Given the description of an element on the screen output the (x, y) to click on. 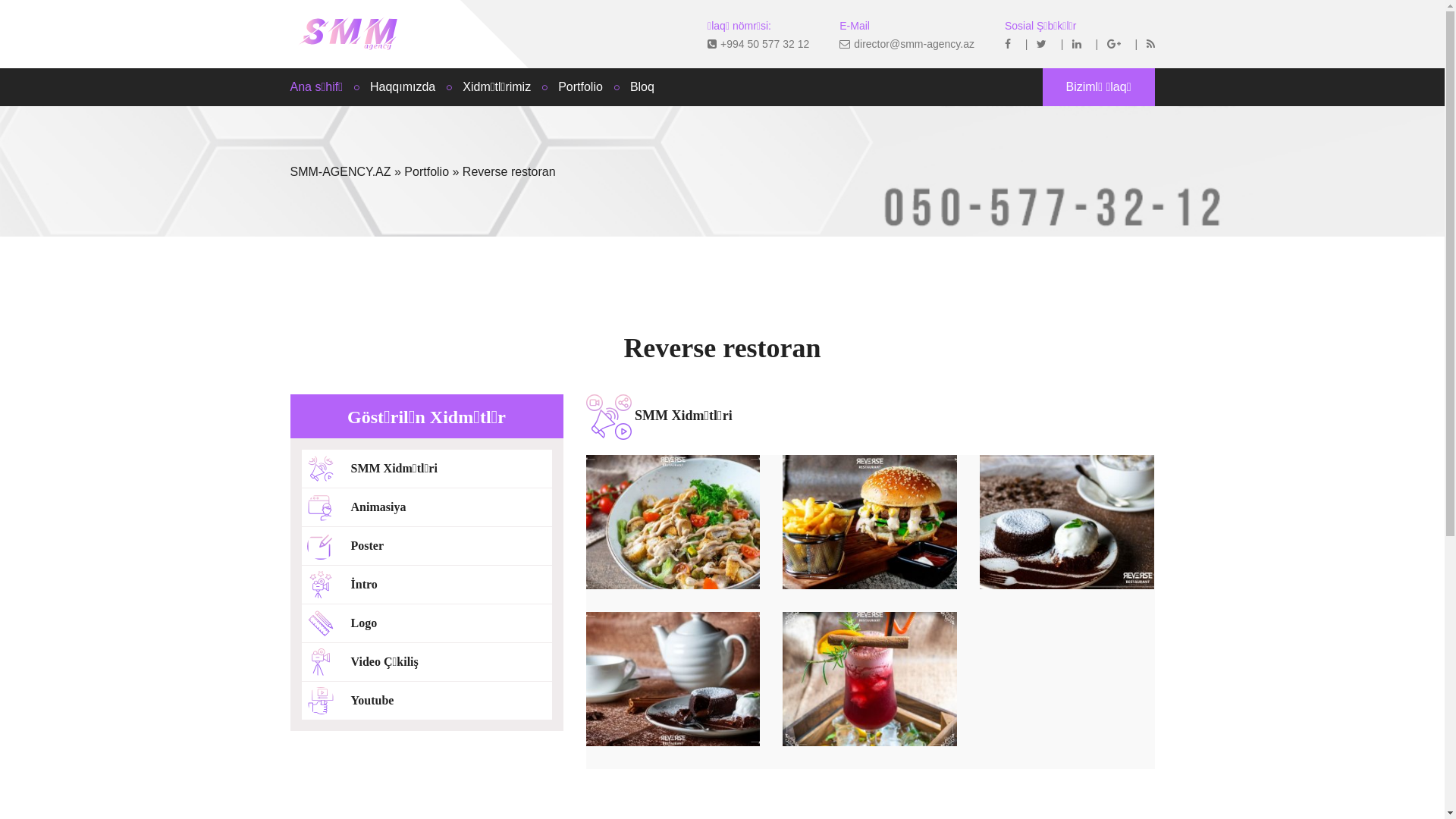
Bloq Element type: text (642, 86)
SMM-AGENCY.AZ Element type: text (339, 171)
Youtube Element type: text (426, 700)
director@smm-agency.az Element type: text (906, 43)
Poster Element type: text (426, 545)
+994 50 577 32 12 Element type: text (758, 43)
Logo Element type: text (426, 623)
Portfolio Element type: text (426, 171)
Portfolio Element type: text (580, 86)
Animasiya Element type: text (426, 507)
